Given the description of an element on the screen output the (x, y) to click on. 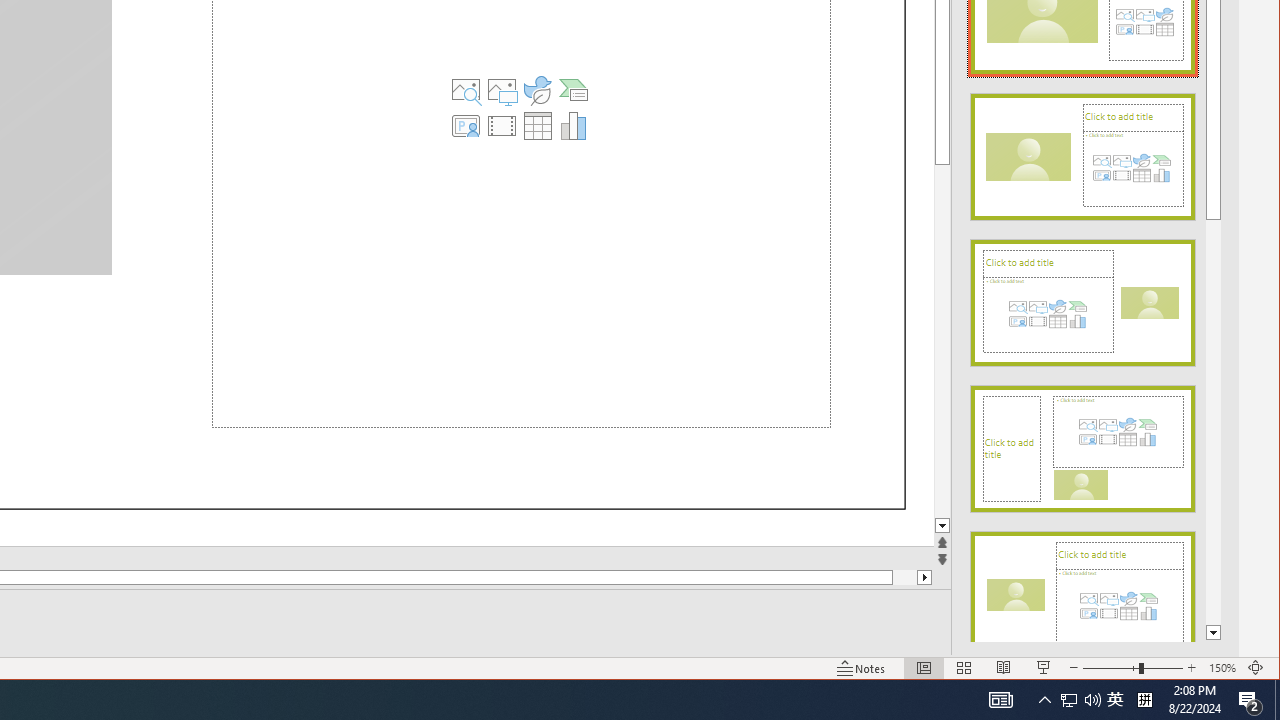
Insert Table (538, 125)
Insert an Icon (538, 89)
Insert Cameo (466, 125)
Stock Images (466, 89)
